Given the description of an element on the screen output the (x, y) to click on. 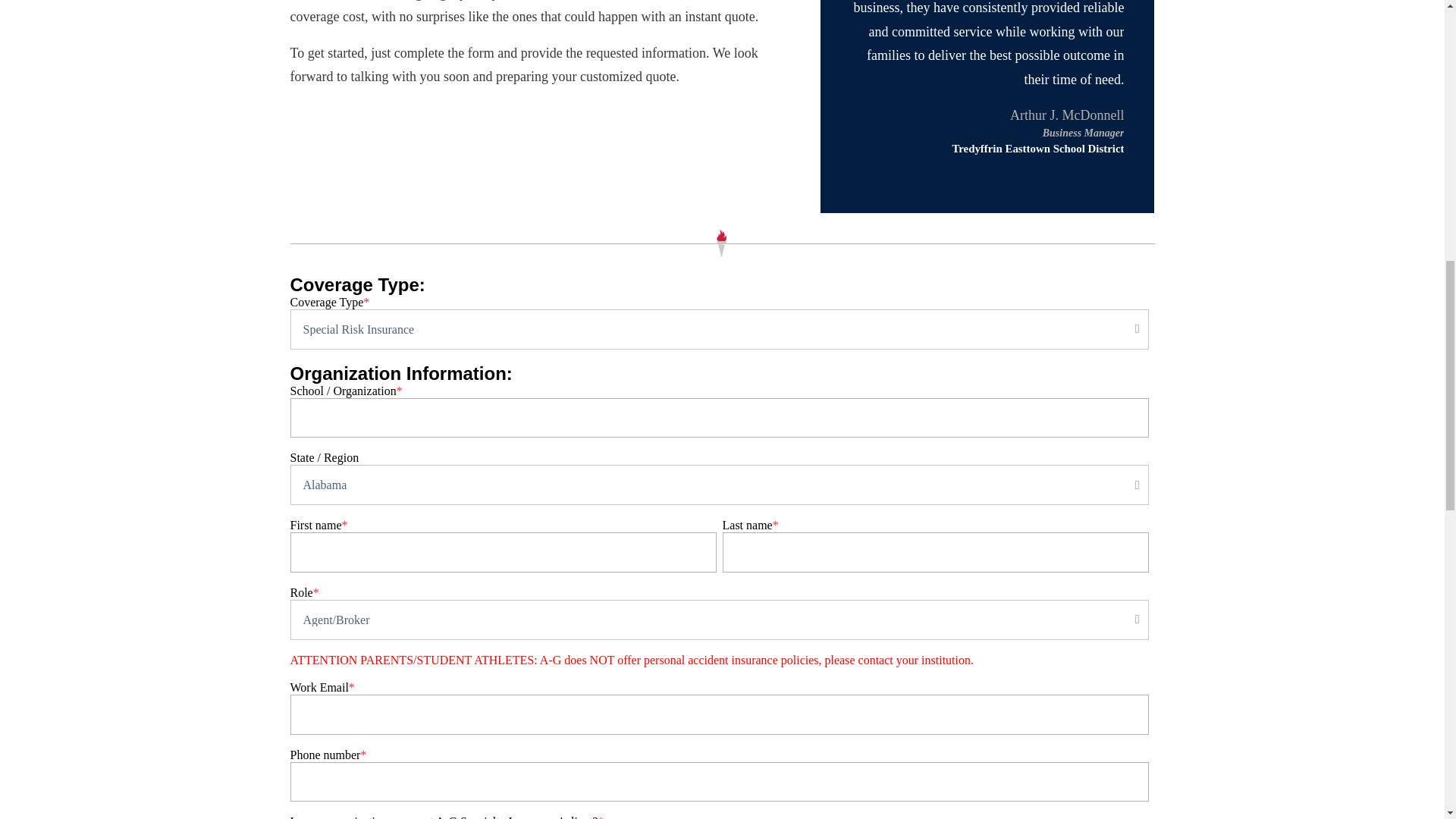
Clear (1124, 484)
Clear (1124, 328)
Clear (1124, 619)
